Given the description of an element on the screen output the (x, y) to click on. 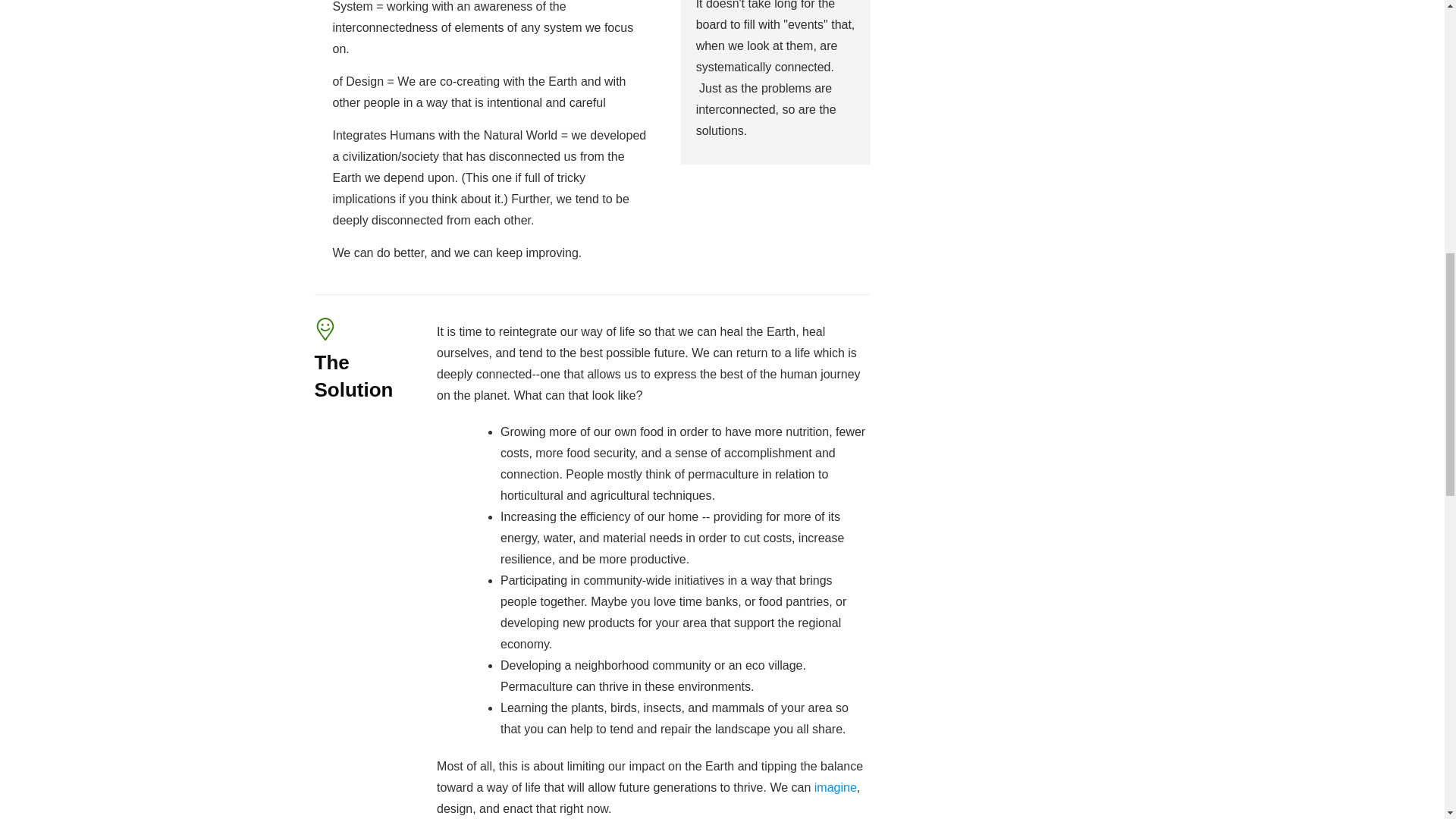
imagine (835, 787)
